Given the description of an element on the screen output the (x, y) to click on. 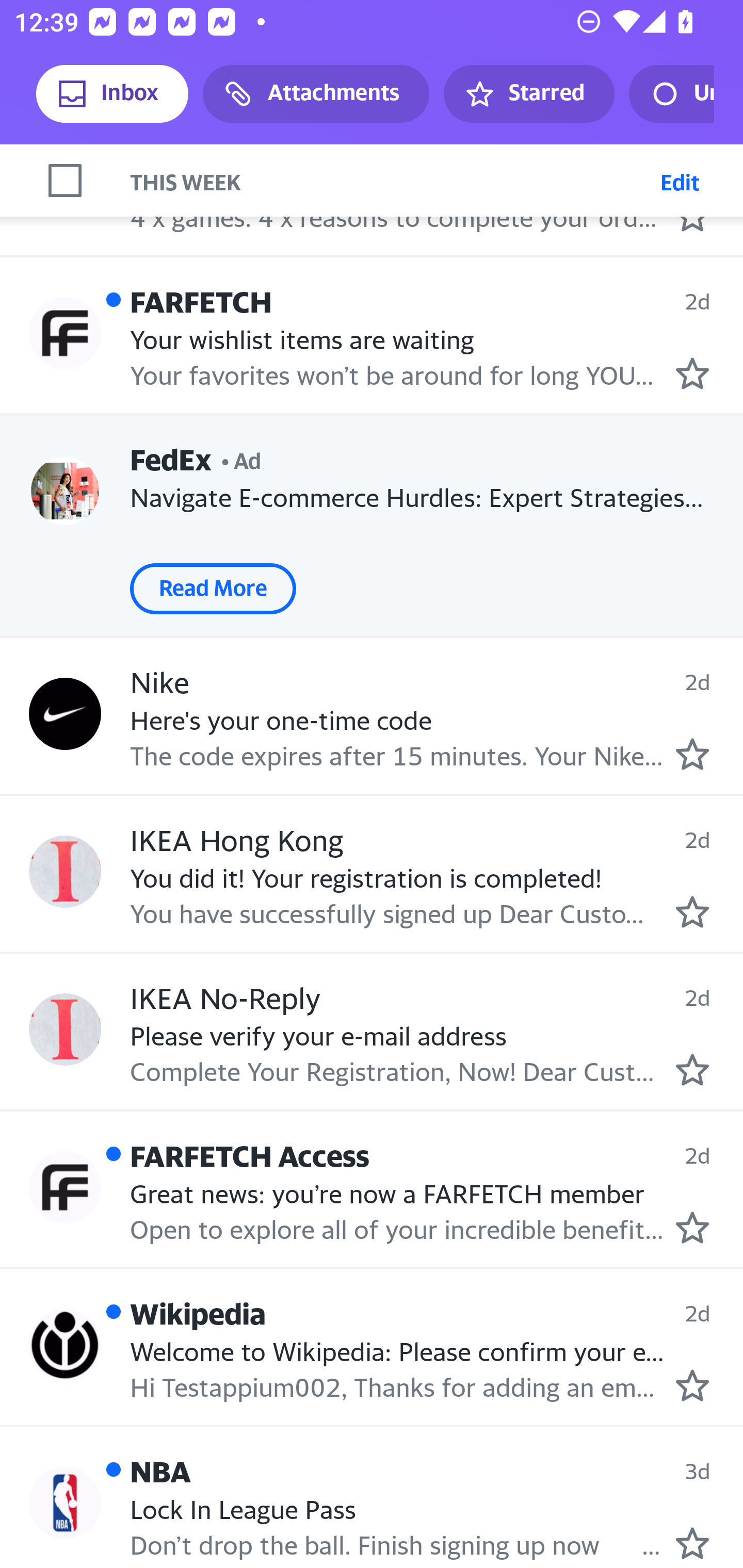
Attachments (315, 93)
Starred (528, 93)
Profile
FARFETCH (64, 333)
Mark as starred. (692, 373)
Profile
Nike (64, 713)
Mark as starred. (692, 753)
Profile
IKEA Hong Kong (64, 871)
Mark as starred. (692, 911)
Profile
IKEA No-Reply (64, 1030)
Mark as starred. (692, 1070)
Profile
FARFETCH Access (64, 1186)
Mark as starred. (692, 1226)
Profile
Wikipedia (64, 1345)
Mark as starred. (692, 1385)
Profile
NBA (64, 1503)
Mark as starred. (692, 1543)
